Given the description of an element on the screen output the (x, y) to click on. 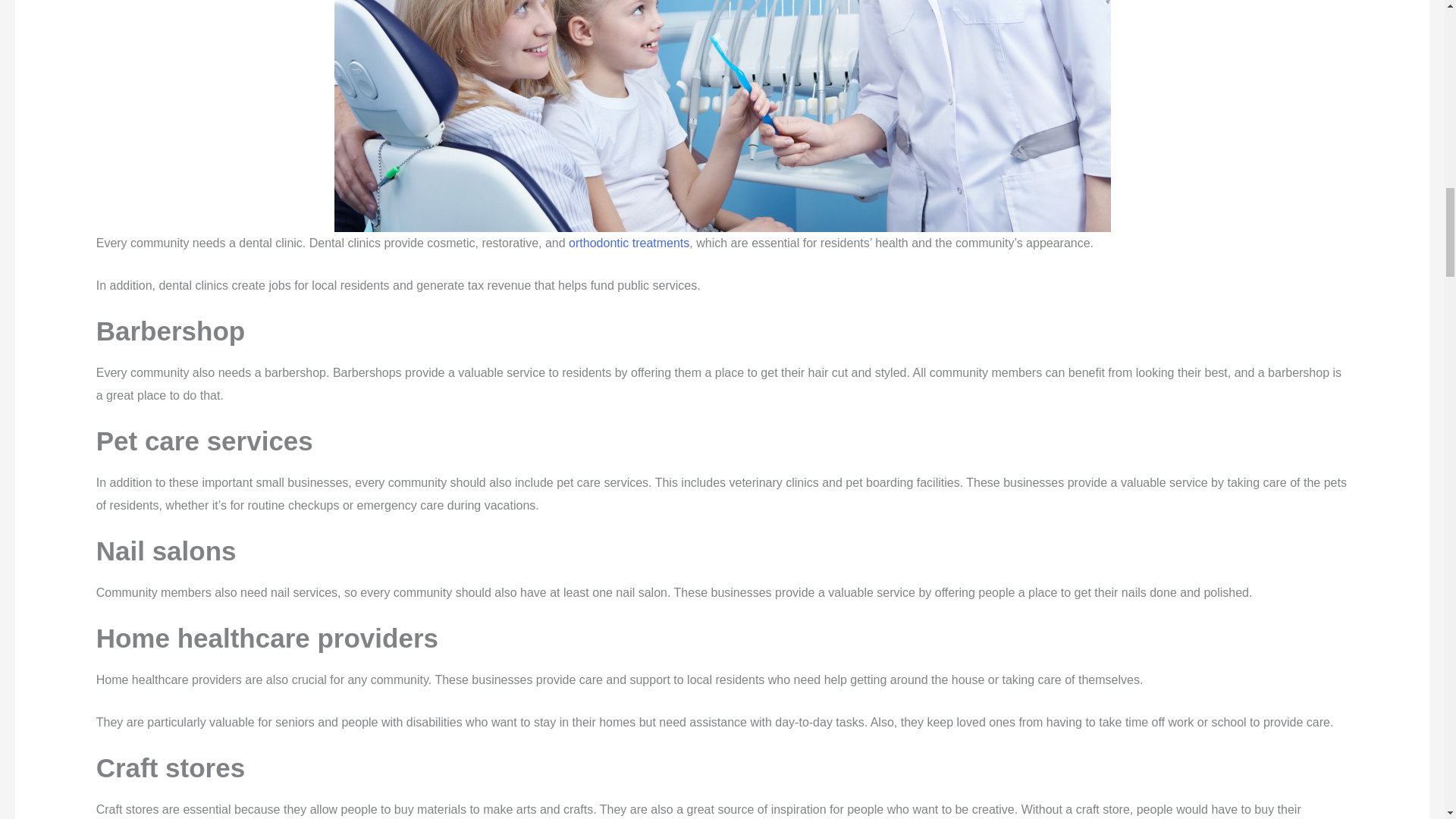
orthodontic treatments (628, 242)
